Given the description of an element on the screen output the (x, y) to click on. 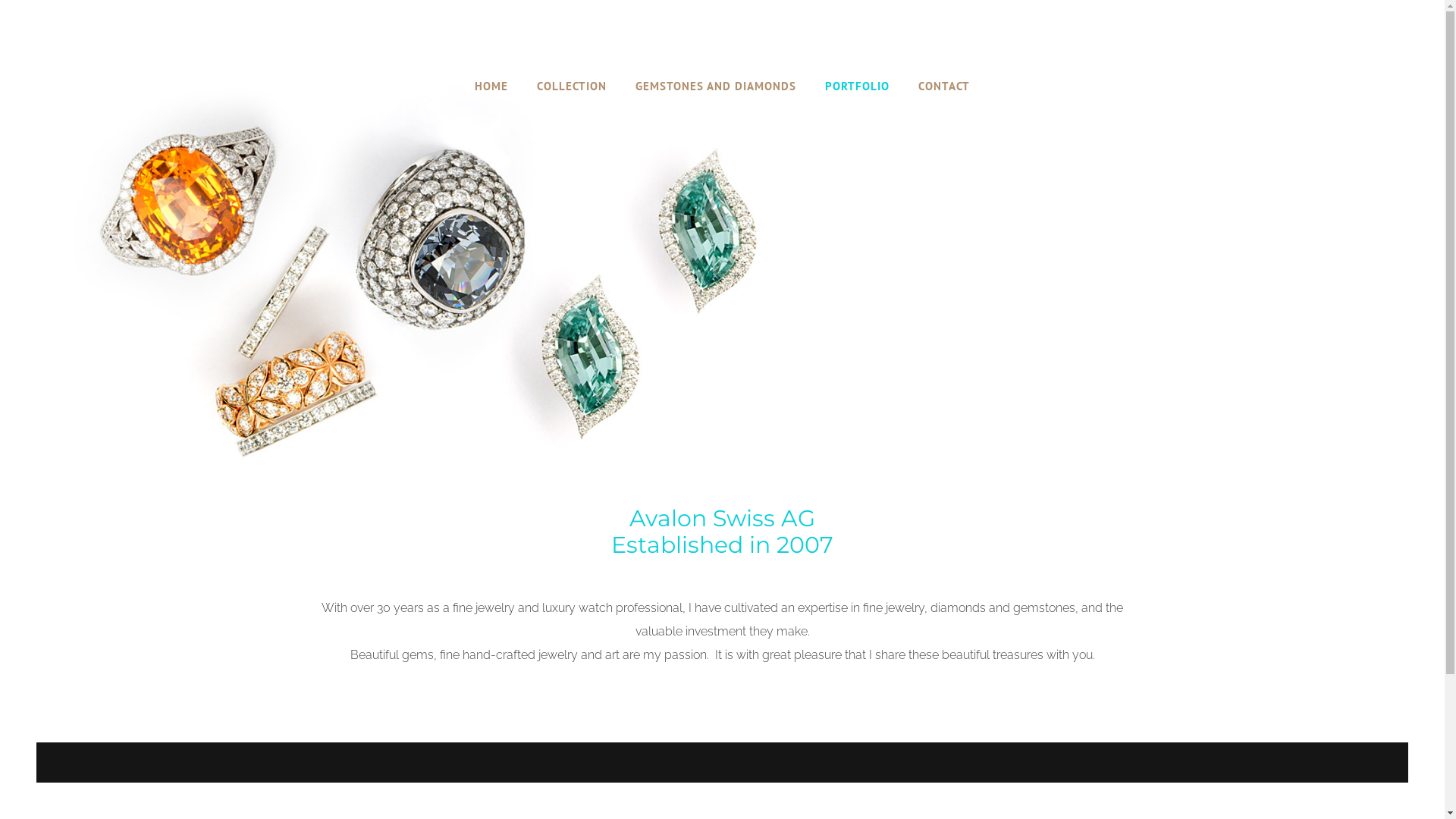
COLLECTION Element type: text (571, 86)
GEMSTONES AND DIAMONDS Element type: text (715, 86)
HOME Element type: text (491, 86)
PORTFOLIO Element type: text (856, 86)
CONTACT Element type: text (943, 86)
